Given the description of an element on the screen output the (x, y) to click on. 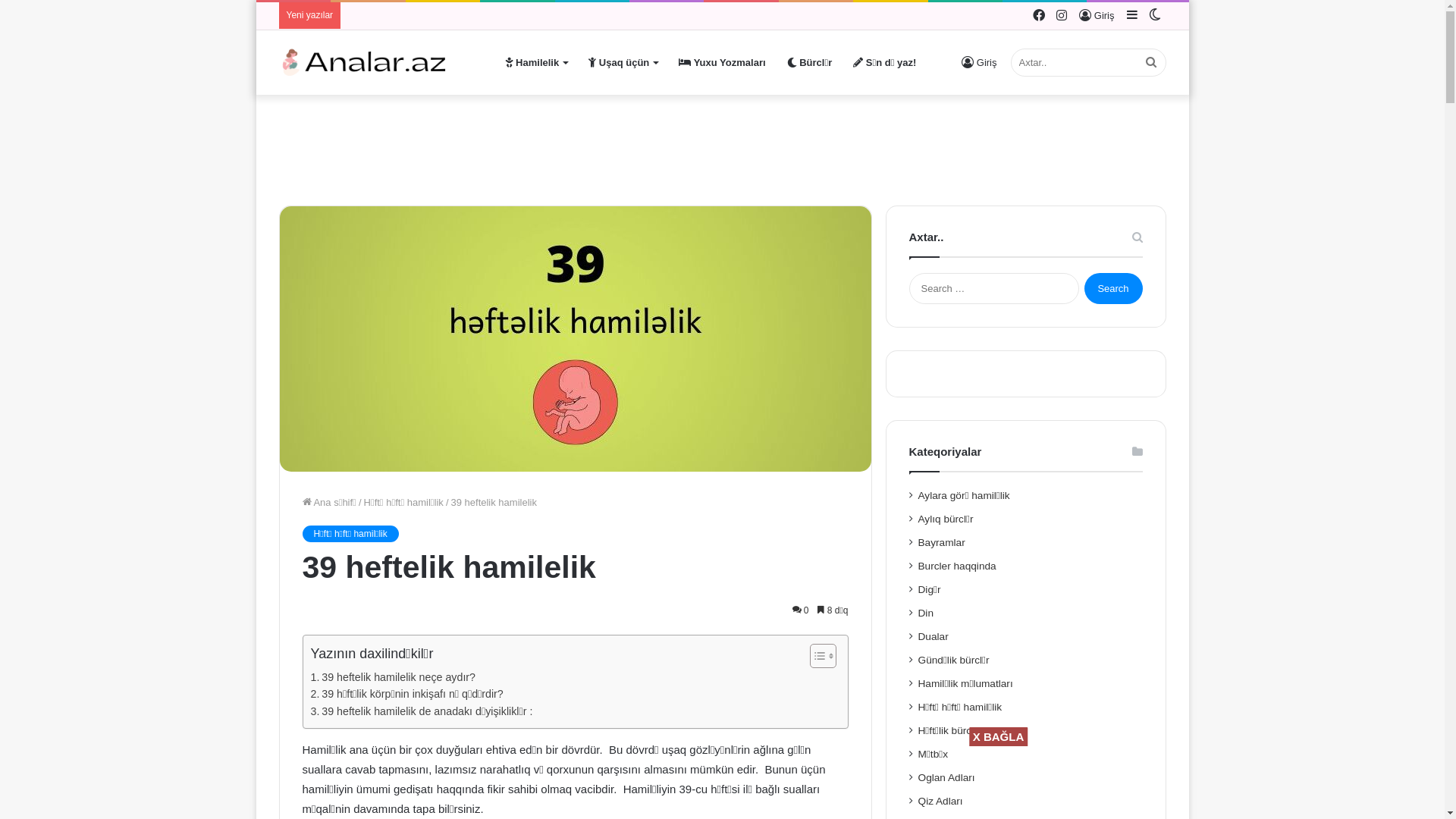
Axtar.. Element type: hover (1087, 62)
Switch skin Element type: text (1154, 15)
Burcler haqqinda Element type: text (957, 566)
Search Element type: text (1113, 288)
Analar Element type: hover (364, 62)
Sidebar Element type: text (1131, 15)
Hamilelik Element type: text (535, 62)
Bayramlar Element type: text (941, 542)
Dualar Element type: text (933, 636)
Din Element type: text (925, 613)
Facebook Element type: text (1038, 15)
Instagram Element type: text (1061, 15)
Axtar.. Element type: text (1150, 62)
